Given the description of an element on the screen output the (x, y) to click on. 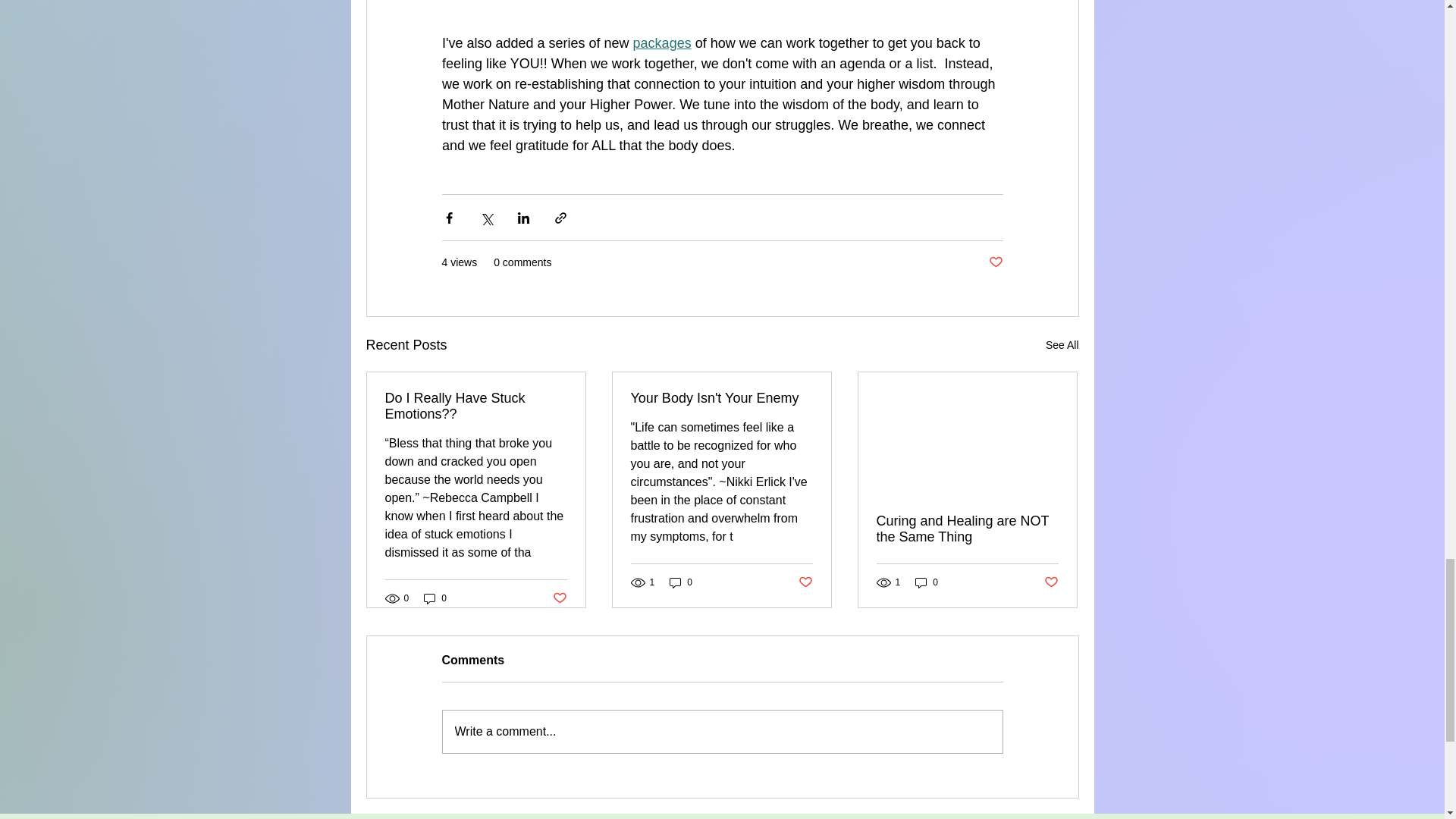
See All (1061, 345)
0 (926, 581)
Post not marked as liked (558, 597)
Your Body Isn't Your Enemy (721, 398)
Curing and Healing are NOT the Same Thing (967, 529)
0 (681, 581)
Do I Really Have Stuck Emotions?? (476, 406)
packages (660, 43)
0 (435, 598)
Post not marked as liked (995, 262)
Write a comment... (722, 731)
Post not marked as liked (804, 582)
Post not marked as liked (1050, 582)
